Given the description of an element on the screen output the (x, y) to click on. 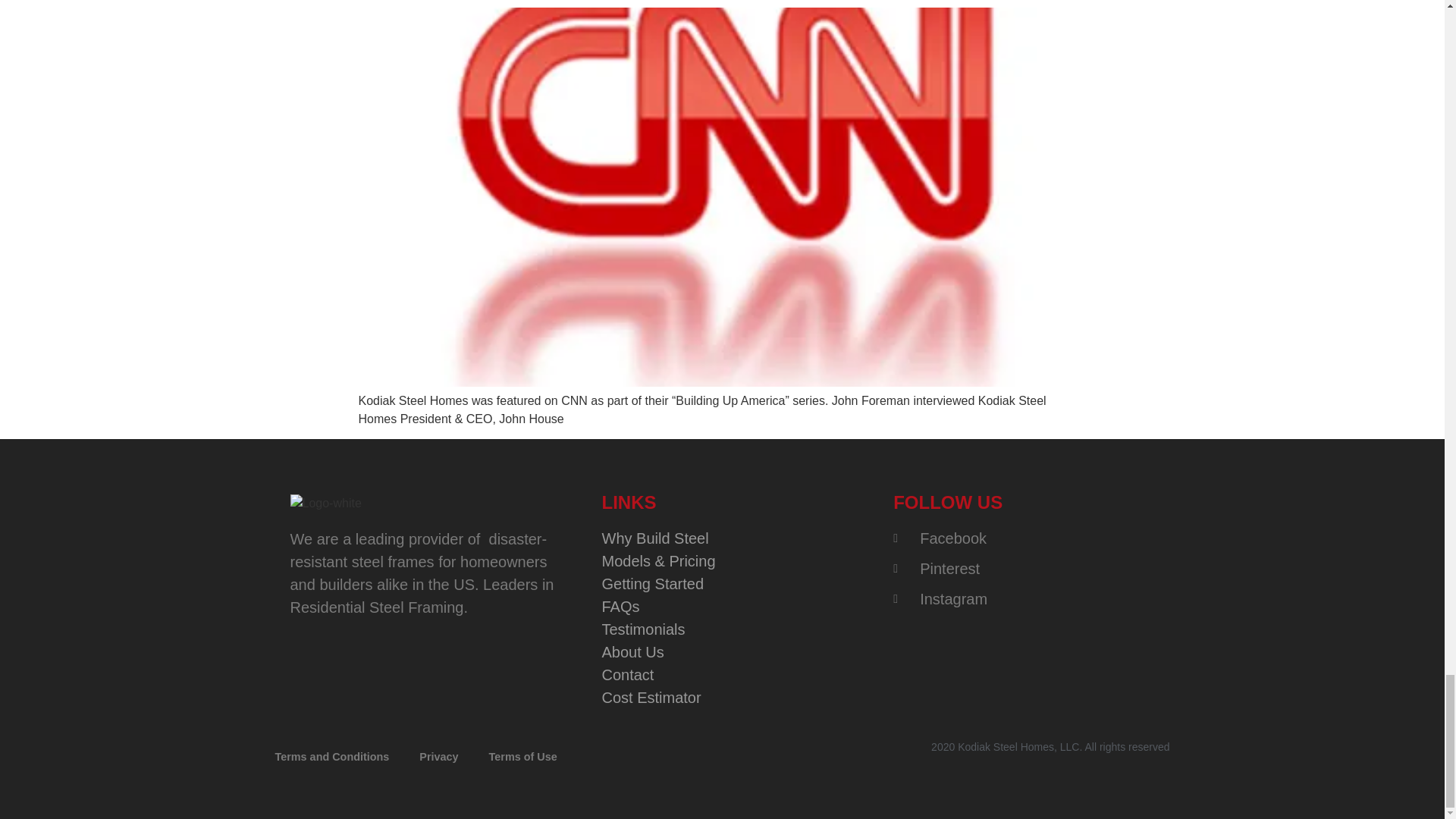
Logo-white (325, 503)
